Given the description of an element on the screen output the (x, y) to click on. 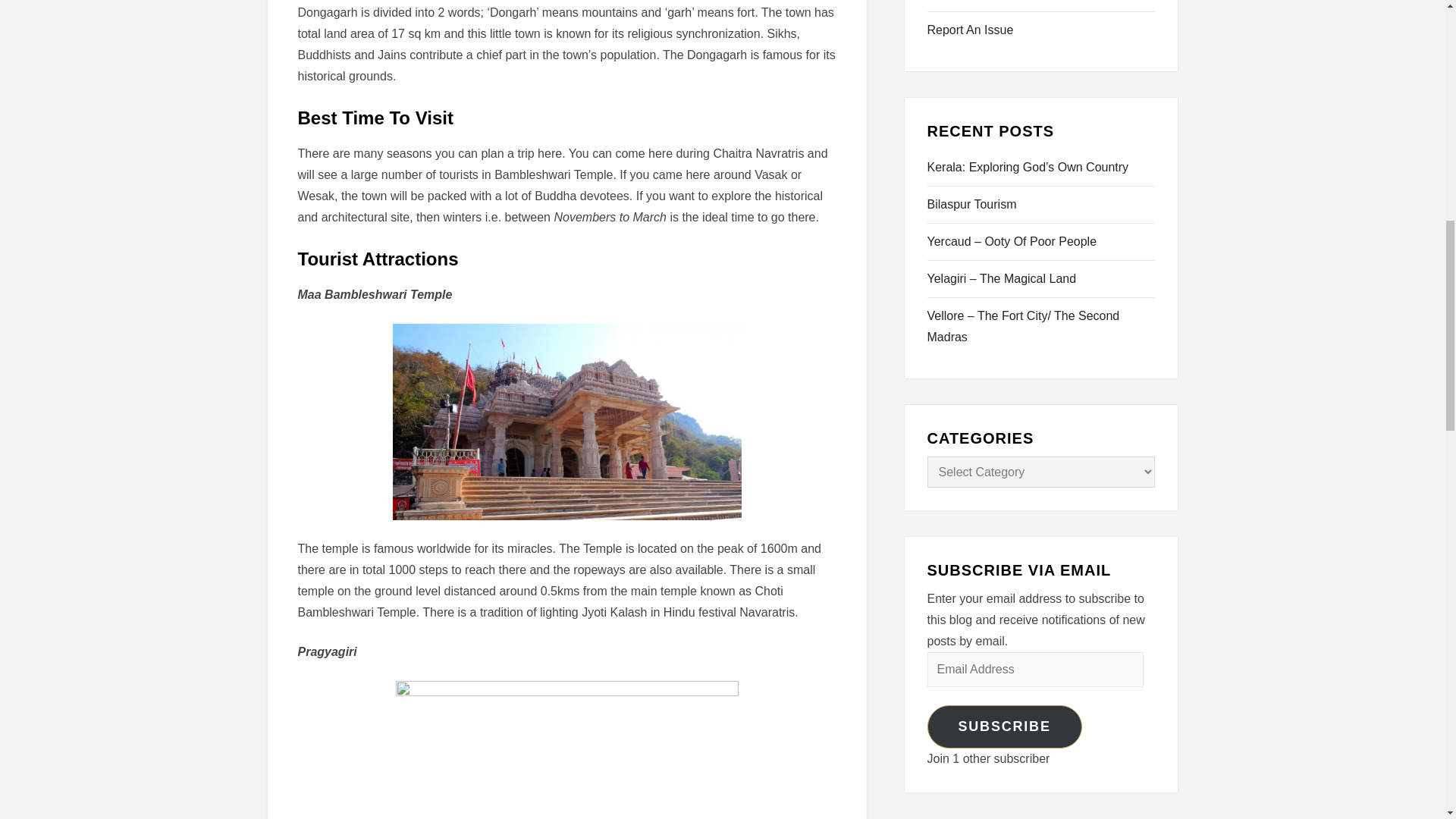
Contact Us (956, 2)
Report An Issue (969, 29)
SUBSCRIBE (1003, 726)
Bilaspur Tourism (971, 204)
